Given the description of an element on the screen output the (x, y) to click on. 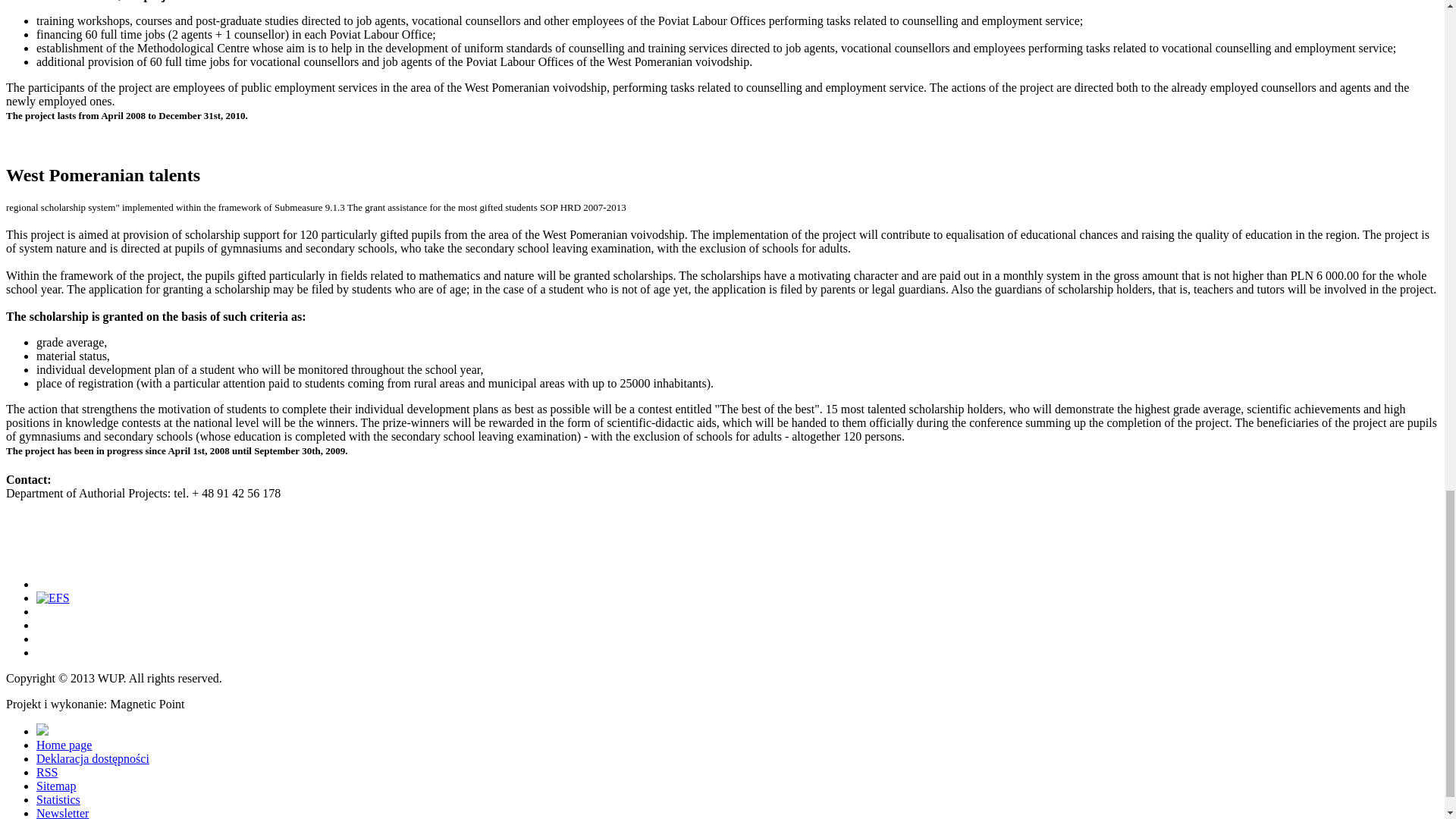
EFS (52, 597)
Home page (63, 744)
Statistics (58, 799)
Sitemap (55, 785)
RSS (47, 771)
RSS (47, 771)
